Given the description of an element on the screen output the (x, y) to click on. 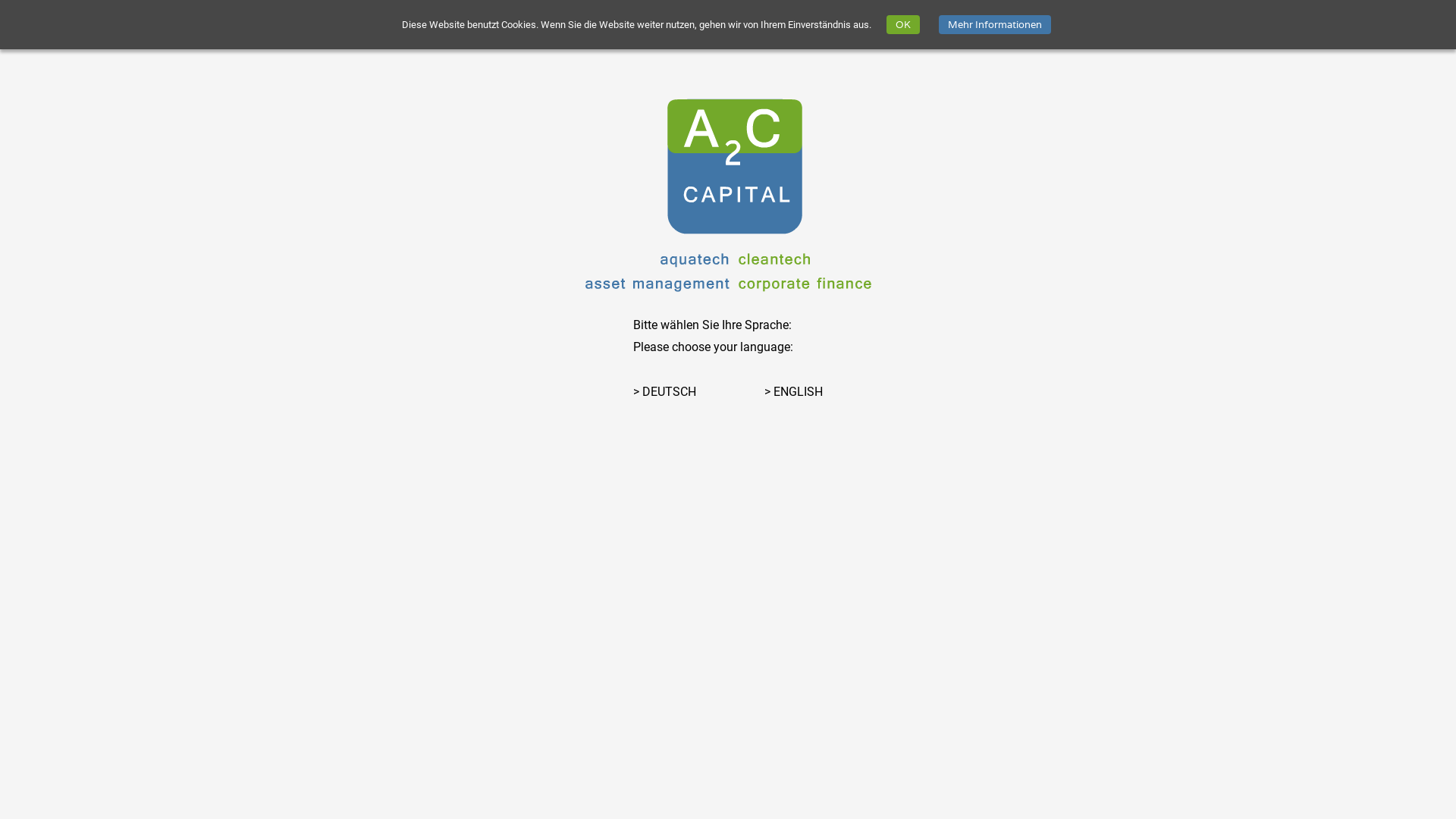
Mehr Informationen Element type: text (994, 24)
> ENGLISH Element type: text (793, 391)
OK Element type: text (902, 24)
> DEUTSCH Element type: text (664, 391)
Zum Inhalt springen Element type: text (339, 75)
